Given the description of an element on the screen output the (x, y) to click on. 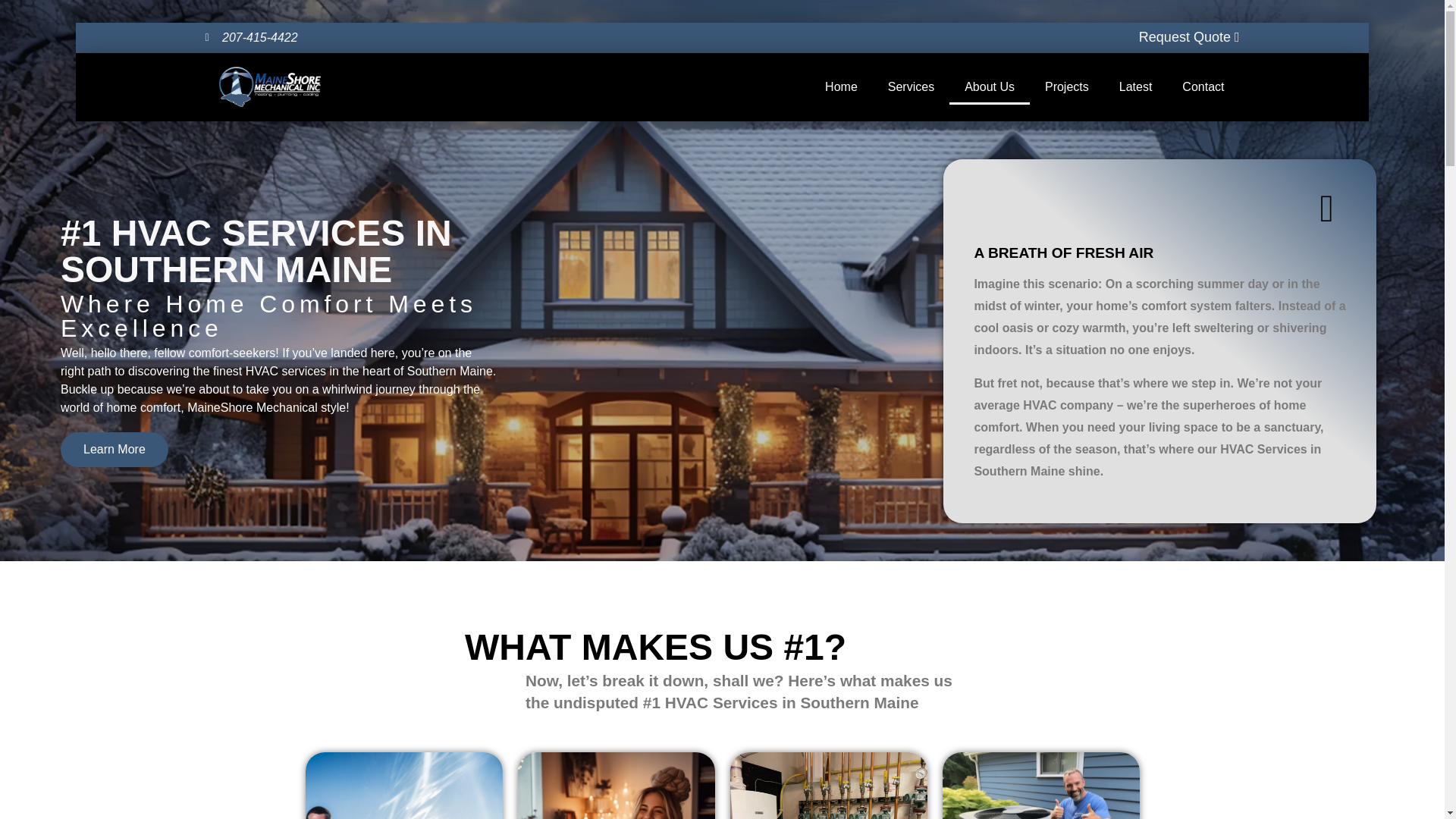
Contact (1203, 86)
Services (910, 86)
Home (840, 86)
About Us (989, 86)
Learn More (114, 455)
Latest (1135, 86)
207-415-4422 (251, 37)
Request Quote (1189, 37)
Projects (1066, 86)
